Given the description of an element on the screen output the (x, y) to click on. 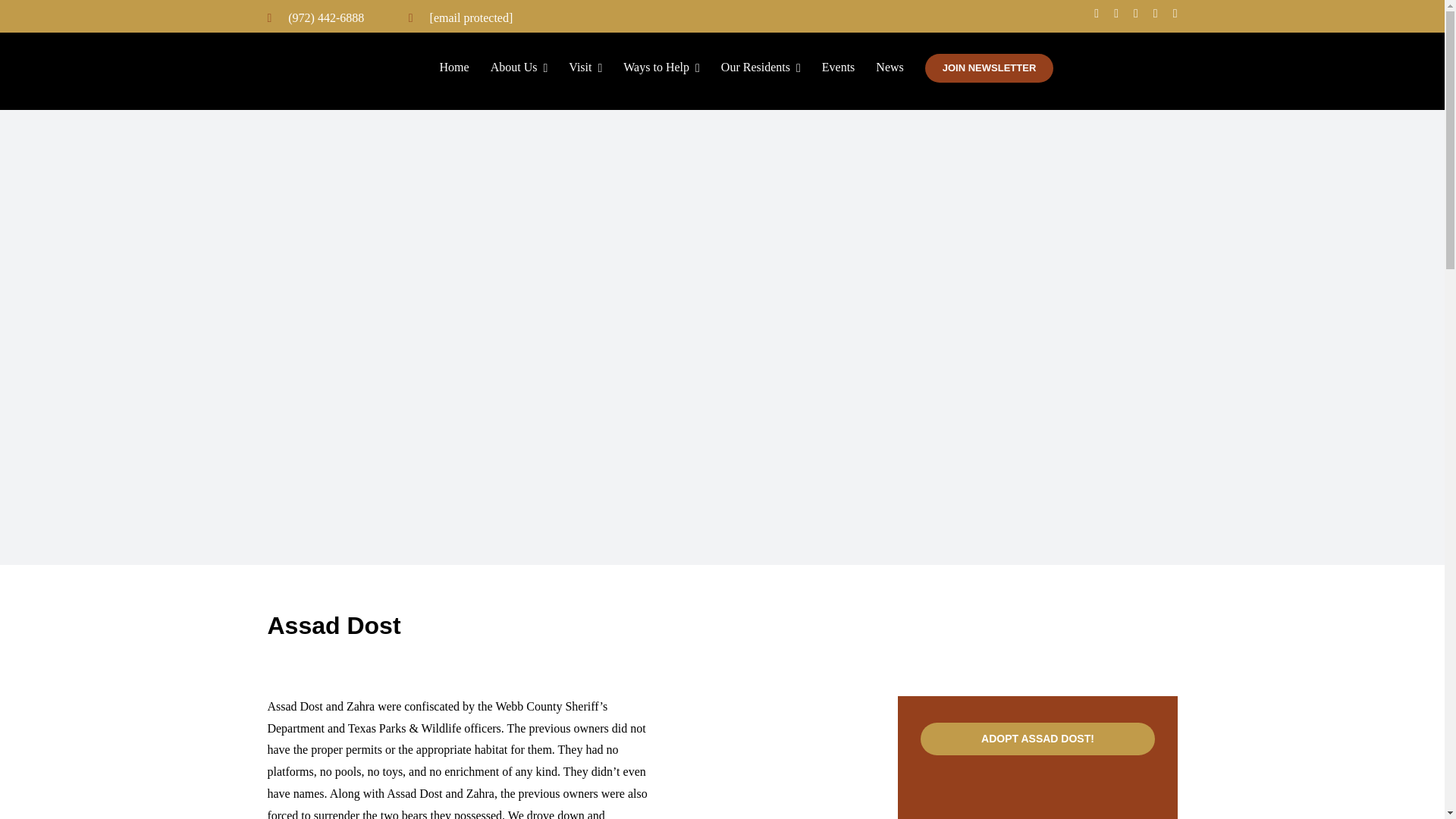
In-Sync Exotics Logo (331, 71)
Our Residents (771, 68)
Ways to Help (671, 68)
Visit (596, 68)
About Us (529, 68)
Home (464, 68)
